Given the description of an element on the screen output the (x, y) to click on. 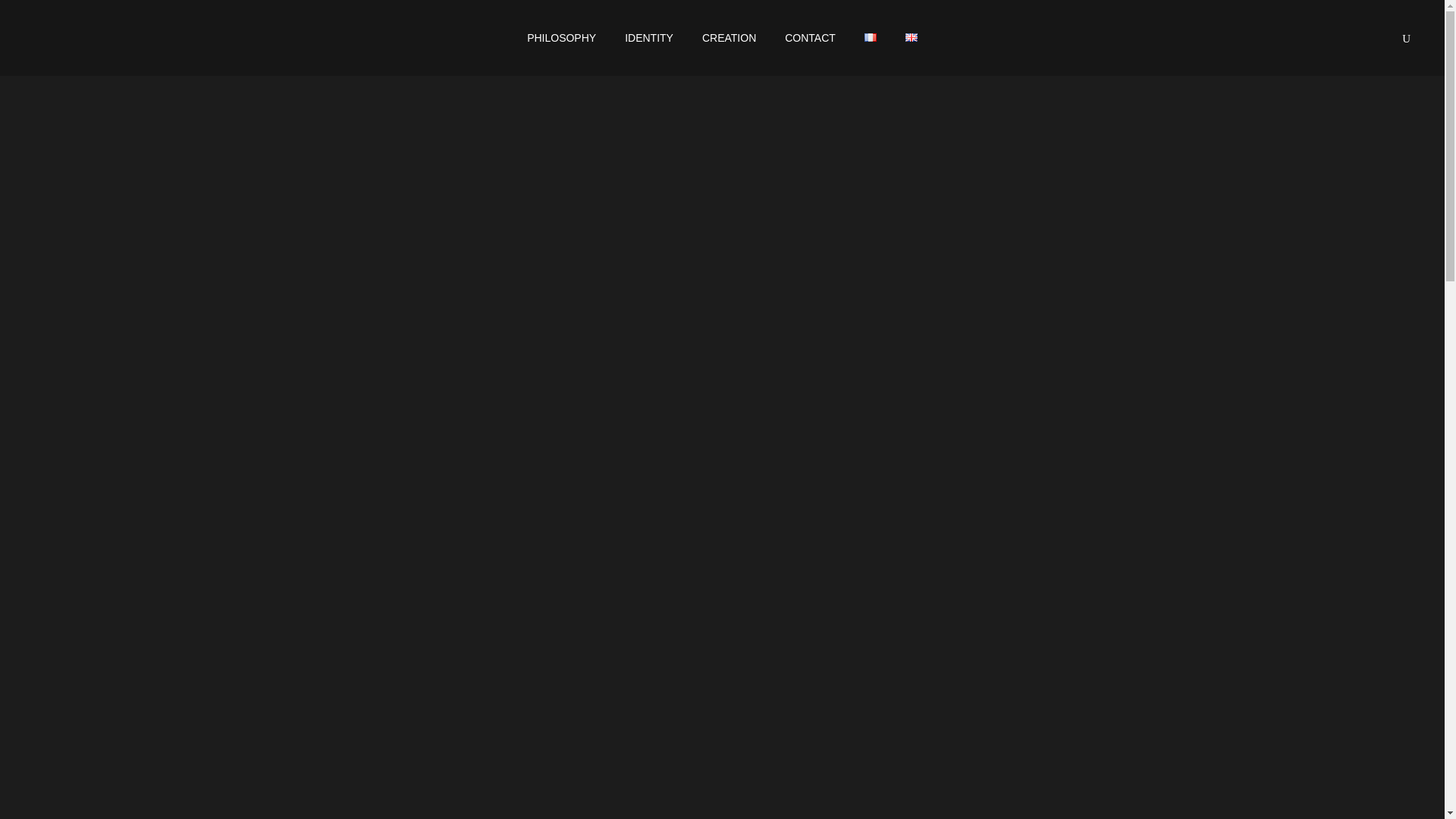
CREATION (728, 38)
English (911, 37)
CONTACT (810, 38)
PHILOSOPHY (561, 38)
IDENTITY (648, 38)
